Given the description of an element on the screen output the (x, y) to click on. 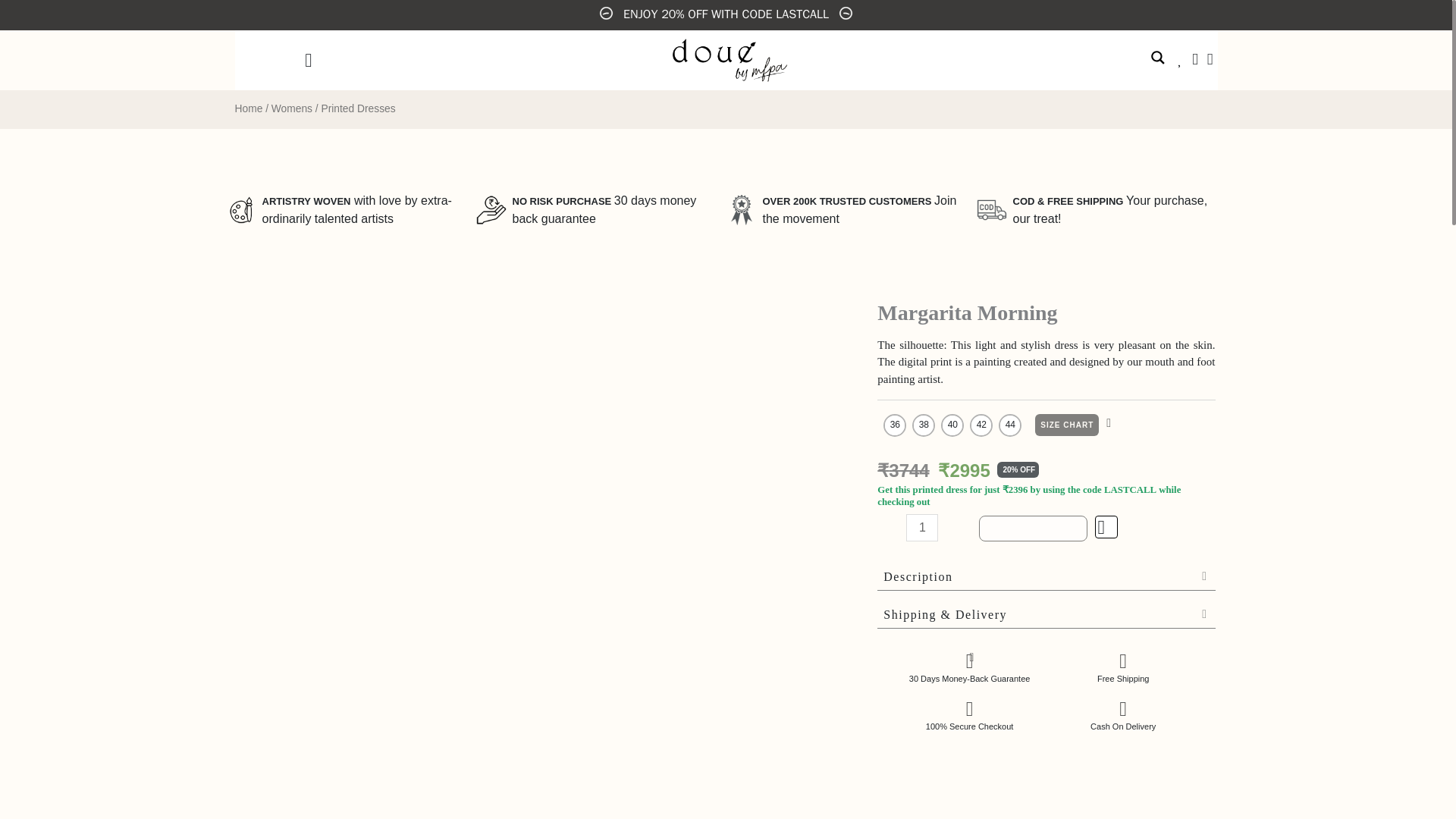
1 (921, 527)
